Given the description of an element on the screen output the (x, y) to click on. 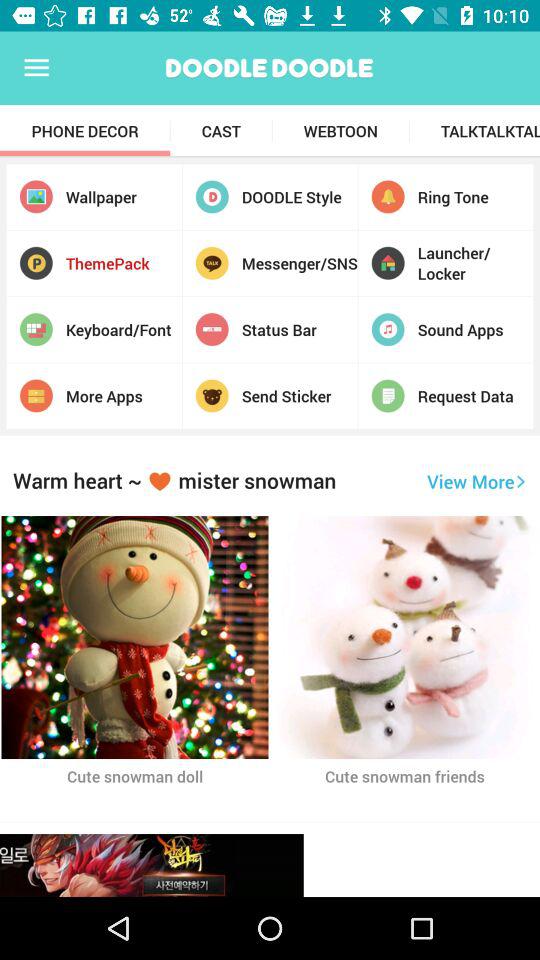
choose item next to cast item (85, 131)
